Given the description of an element on the screen output the (x, y) to click on. 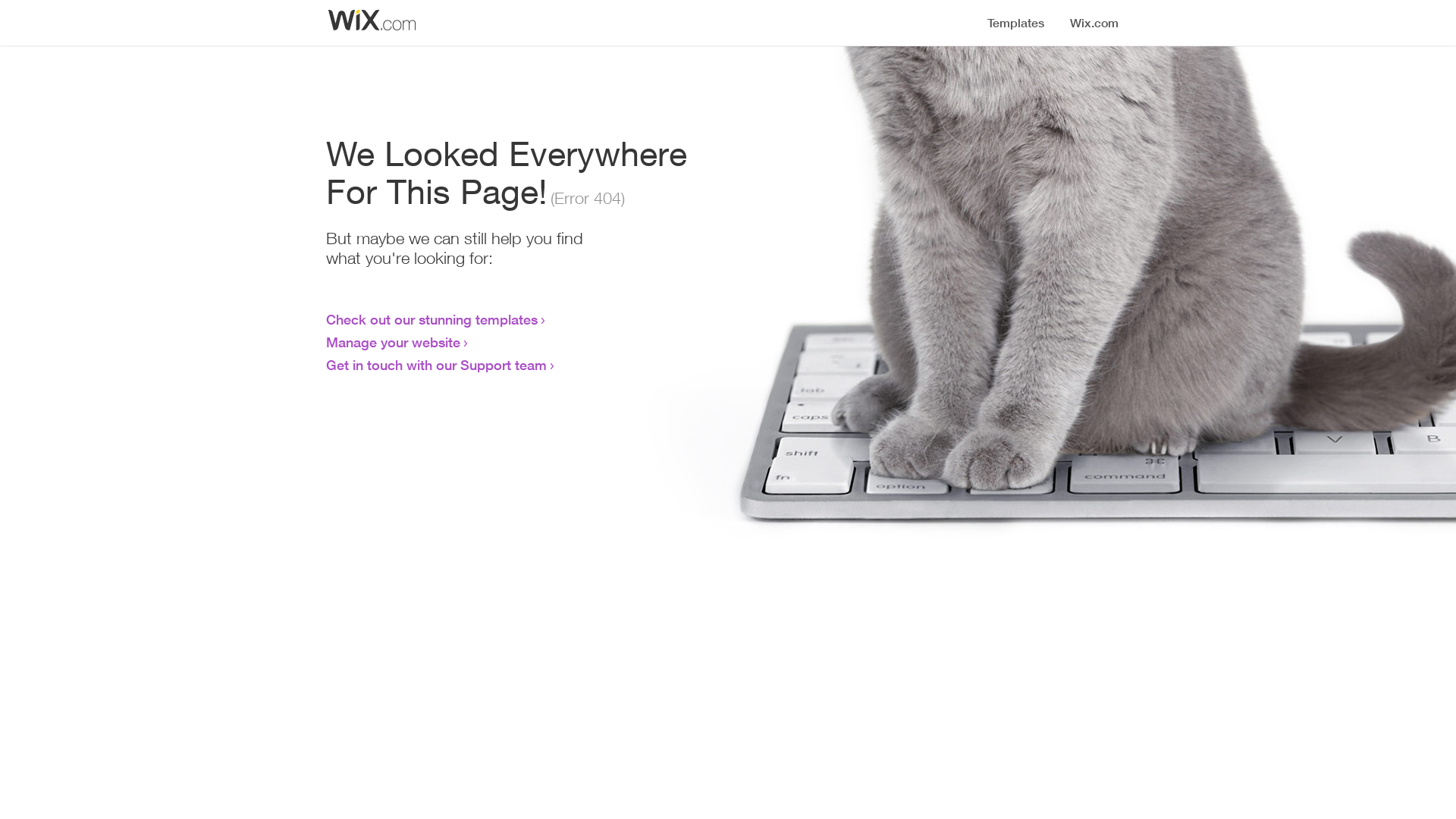
Get in touch with our Support team Element type: text (436, 364)
Manage your website Element type: text (393, 341)
Check out our stunning templates Element type: text (431, 318)
